Given the description of an element on the screen output the (x, y) to click on. 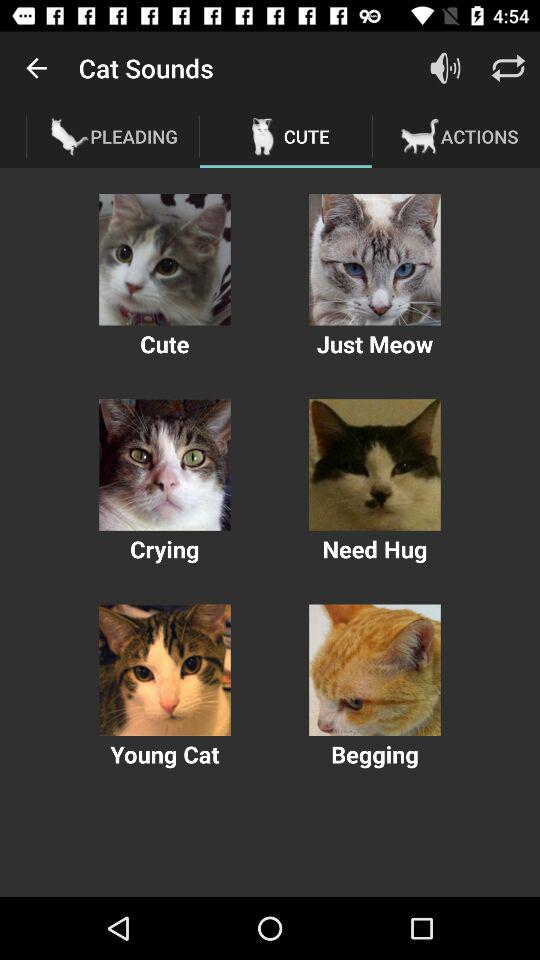
cat image (164, 669)
